Given the description of an element on the screen output the (x, y) to click on. 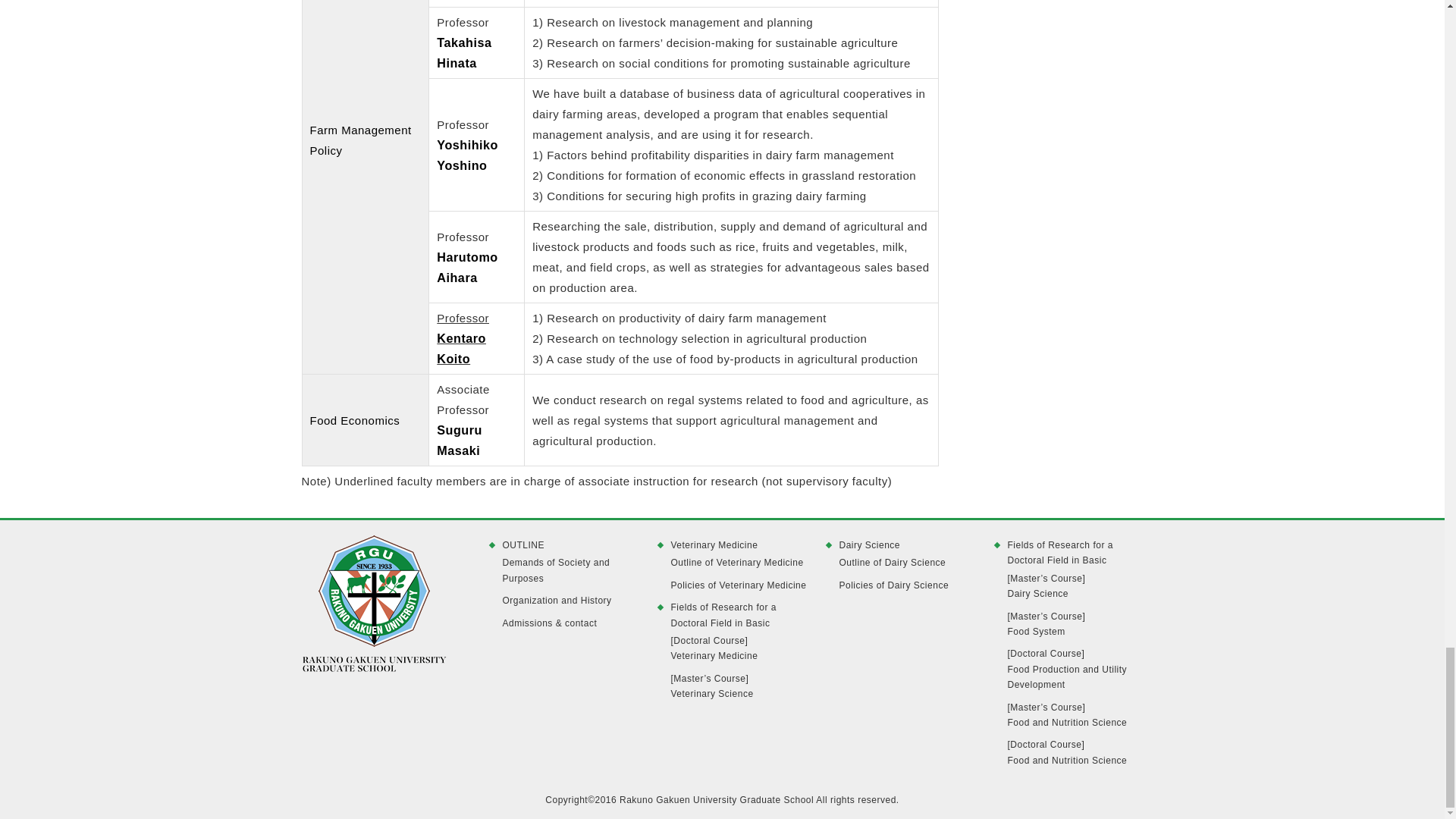
Outline of Veterinary Medicine (737, 562)
Demands of Society and Purposes (569, 570)
Policies of Dairy Science (906, 585)
Organization and History (569, 600)
Policies of Veterinary Medicine (737, 585)
Outline of Dairy Science (906, 562)
